Given the description of an element on the screen output the (x, y) to click on. 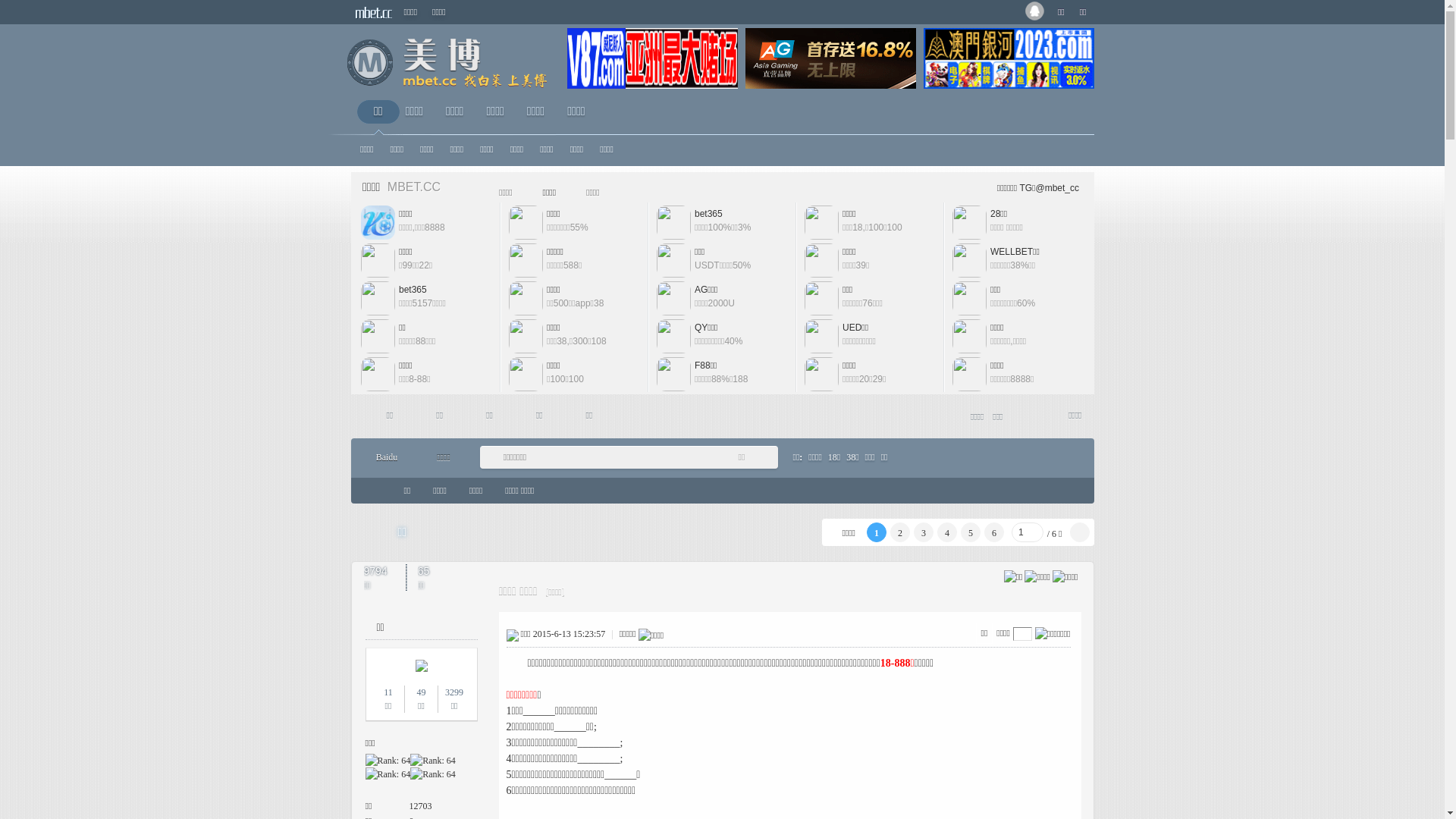
2 Element type: text (900, 532)
11 Element type: text (387, 692)
3299 Element type: text (454, 692)
5 Element type: text (970, 532)
49 Element type: text (420, 692)
4 Element type: text (947, 532)
3 Element type: text (923, 532)
6 Element type: text (994, 532)
